Given the description of an element on the screen output the (x, y) to click on. 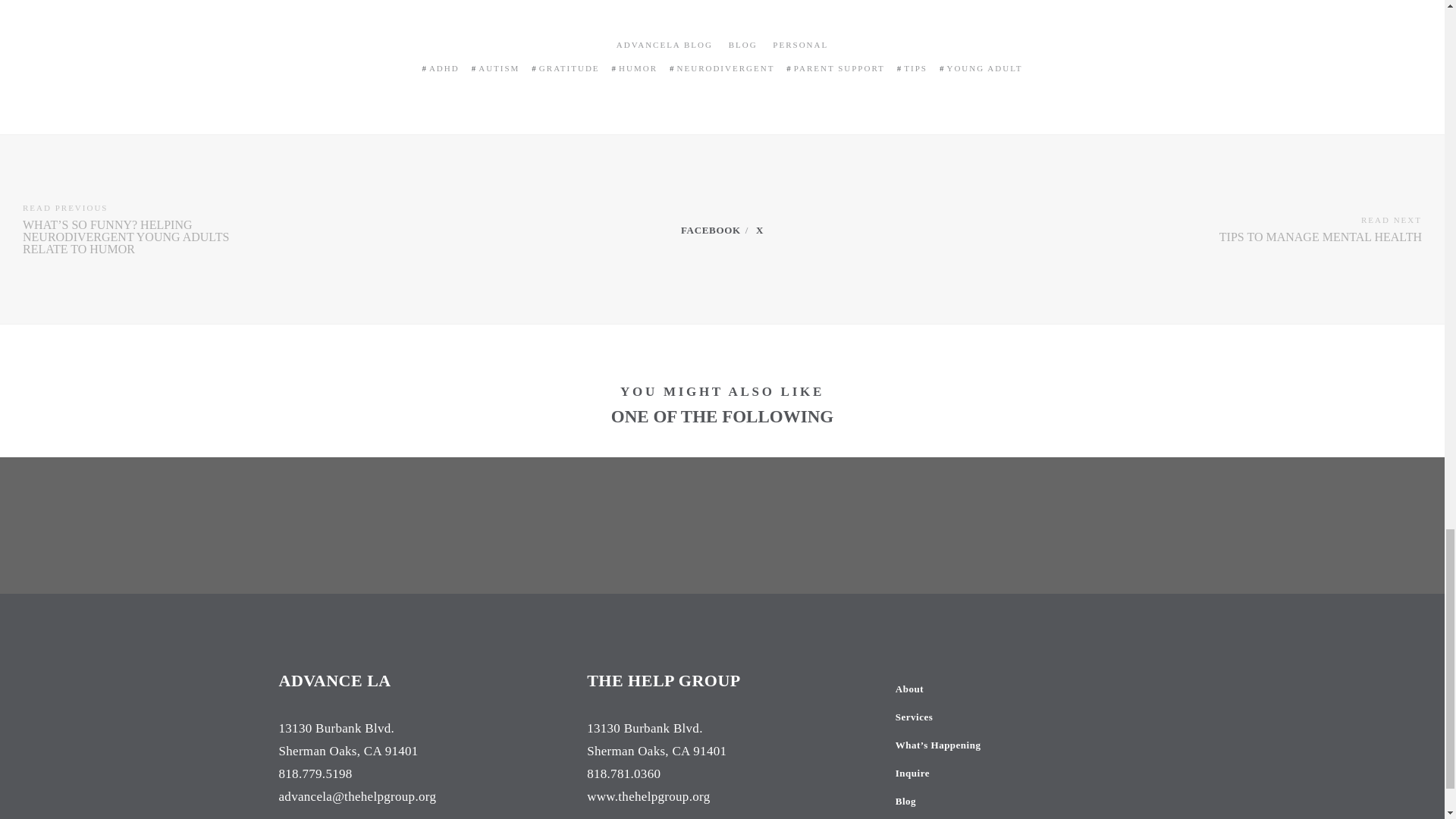
PERSONAL (800, 44)
PARENT SUPPORT (839, 67)
AUTISM (499, 67)
GRATITUDE (568, 67)
BLOG (743, 44)
ADHD (444, 67)
NEURODIVERGENT (725, 67)
HUMOR (638, 67)
ADVANCELA BLOG (664, 44)
